Given the description of an element on the screen output the (x, y) to click on. 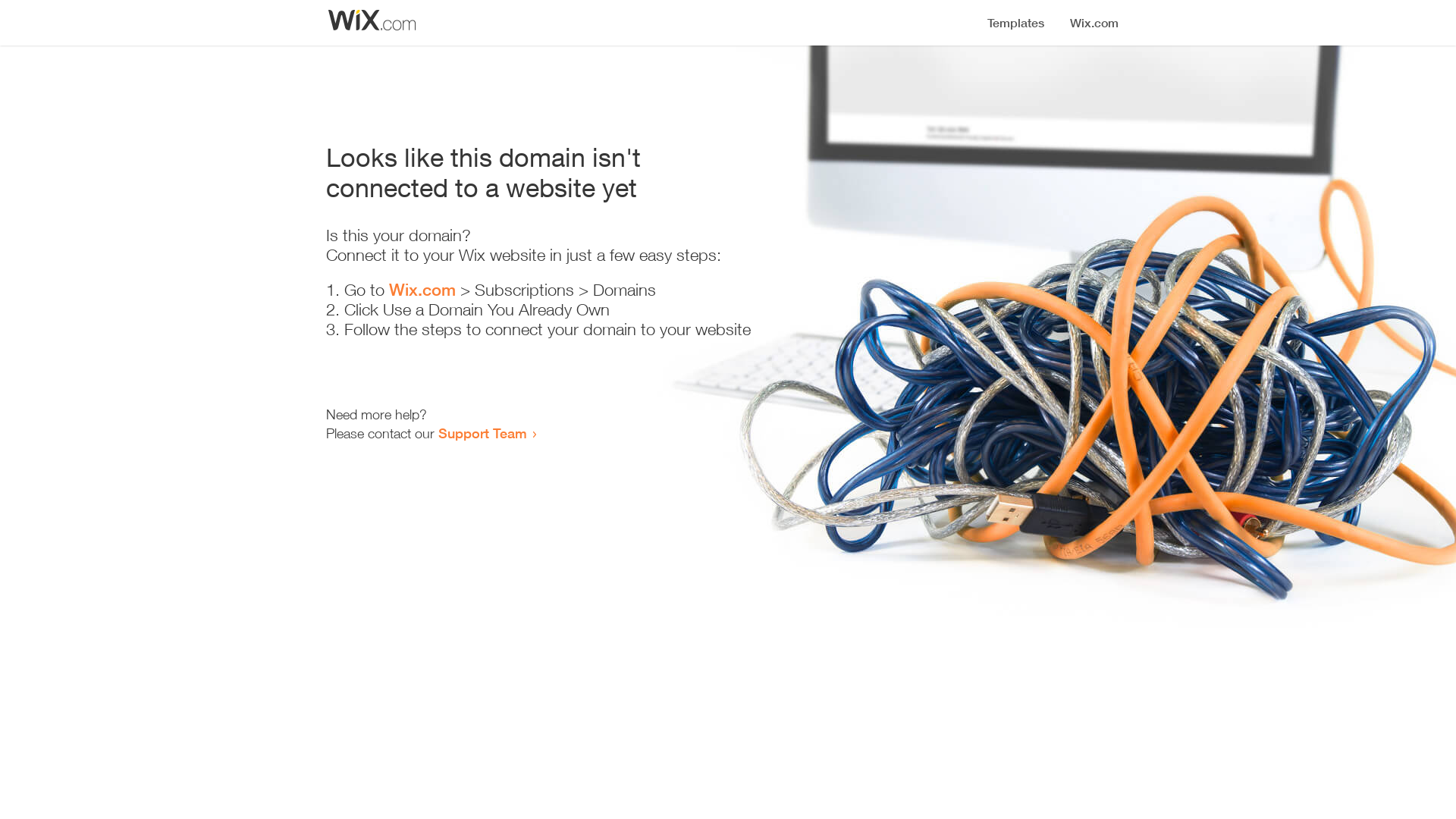
Support Team Element type: text (482, 432)
Wix.com Element type: text (422, 289)
